Given the description of an element on the screen output the (x, y) to click on. 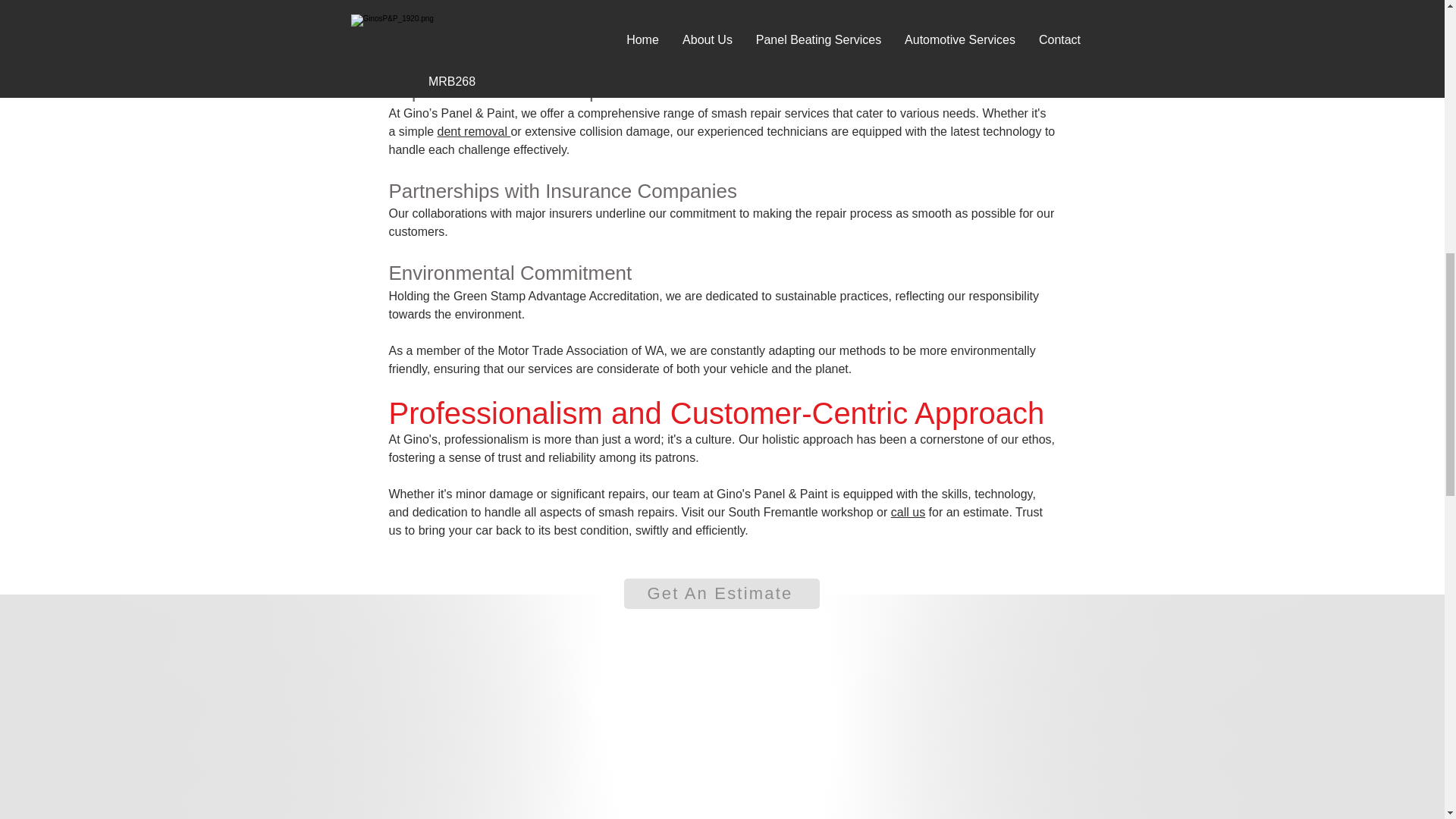
dent removal (474, 131)
Get An Estimate (720, 593)
call us (907, 512)
